Given the description of an element on the screen output the (x, y) to click on. 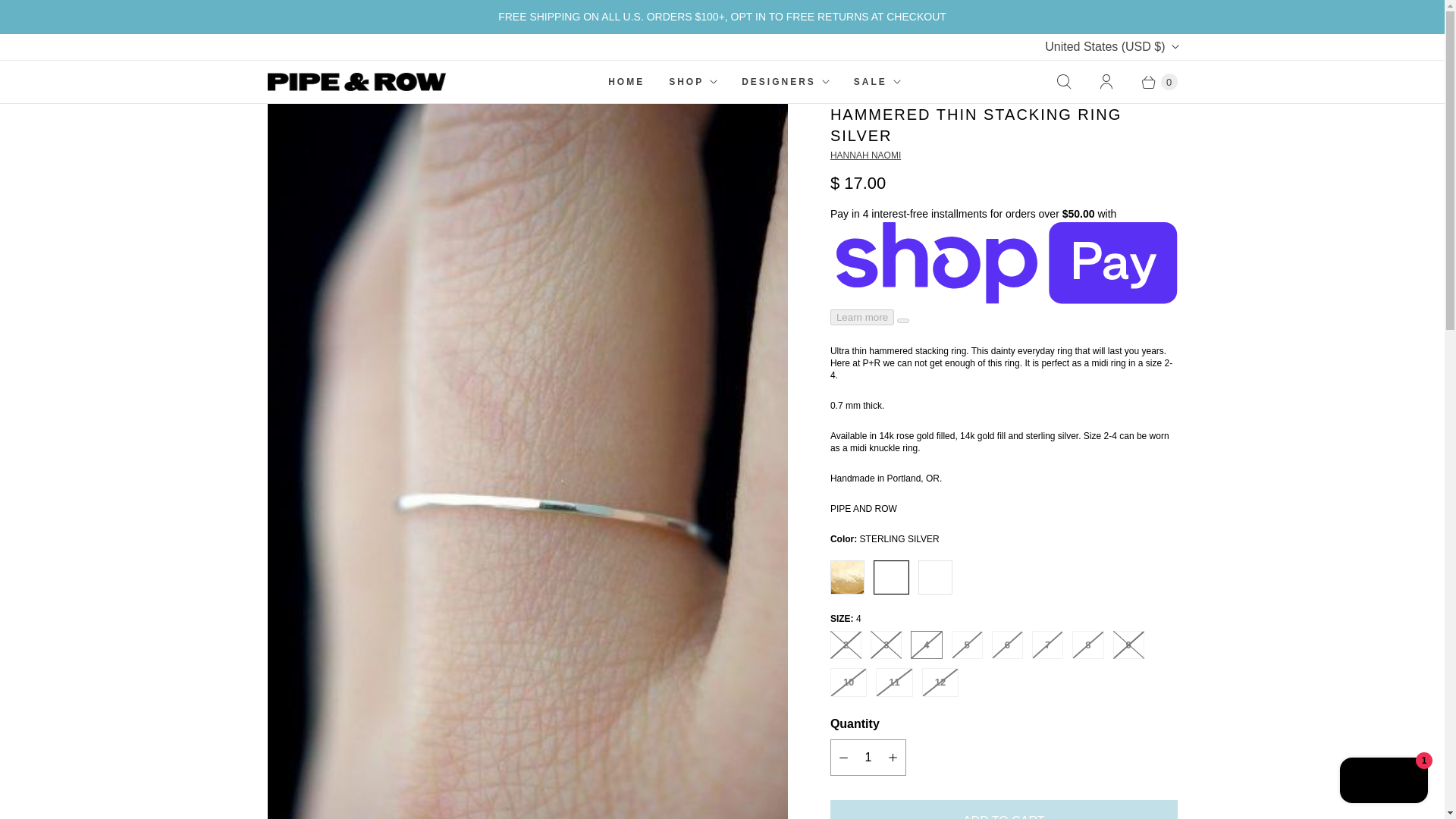
Shopify online store chat (1383, 781)
